Given the description of an element on the screen output the (x, y) to click on. 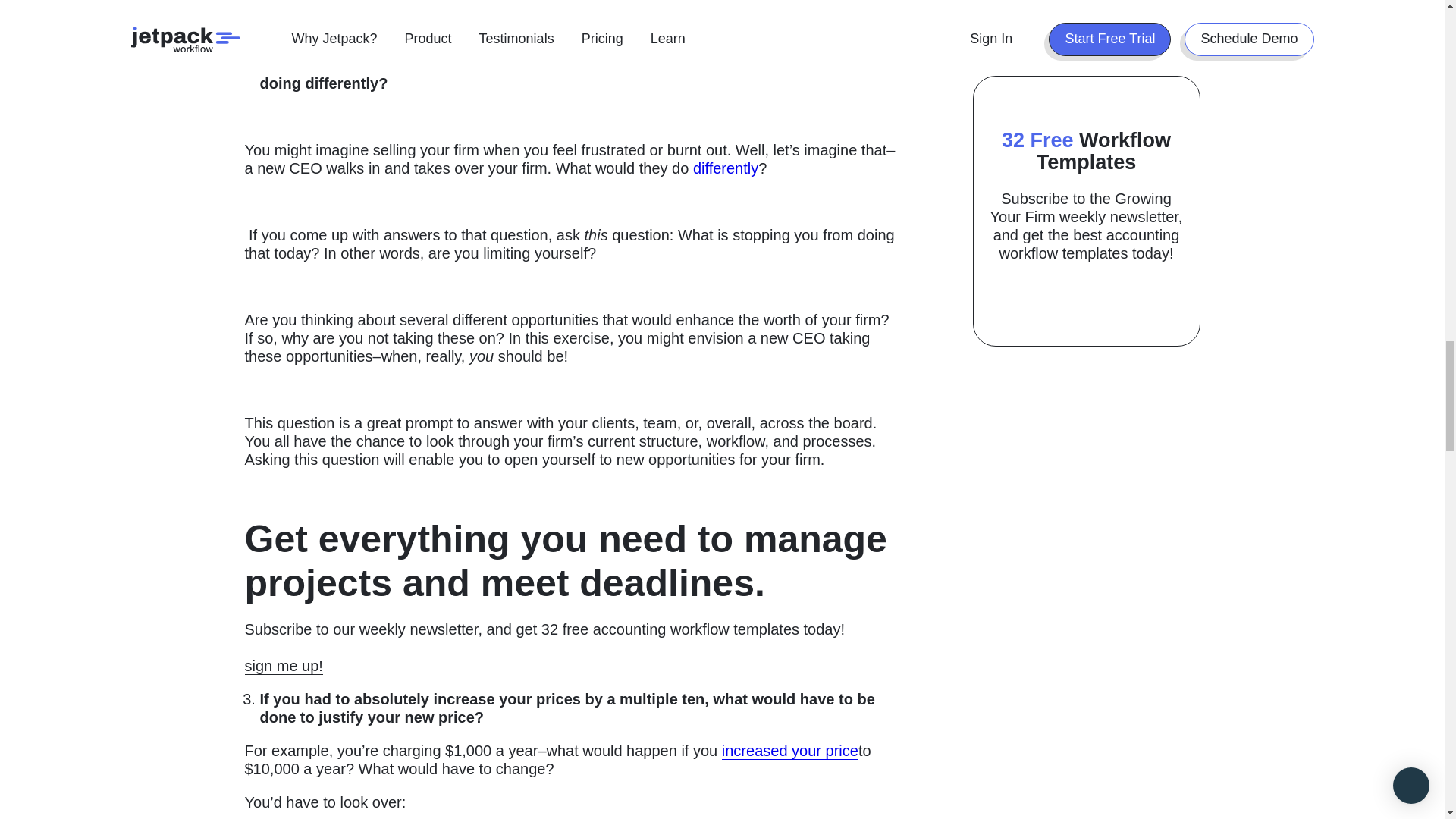
increased your price (790, 751)
sign me up! (282, 656)
differently (725, 167)
